Given the description of an element on the screen output the (x, y) to click on. 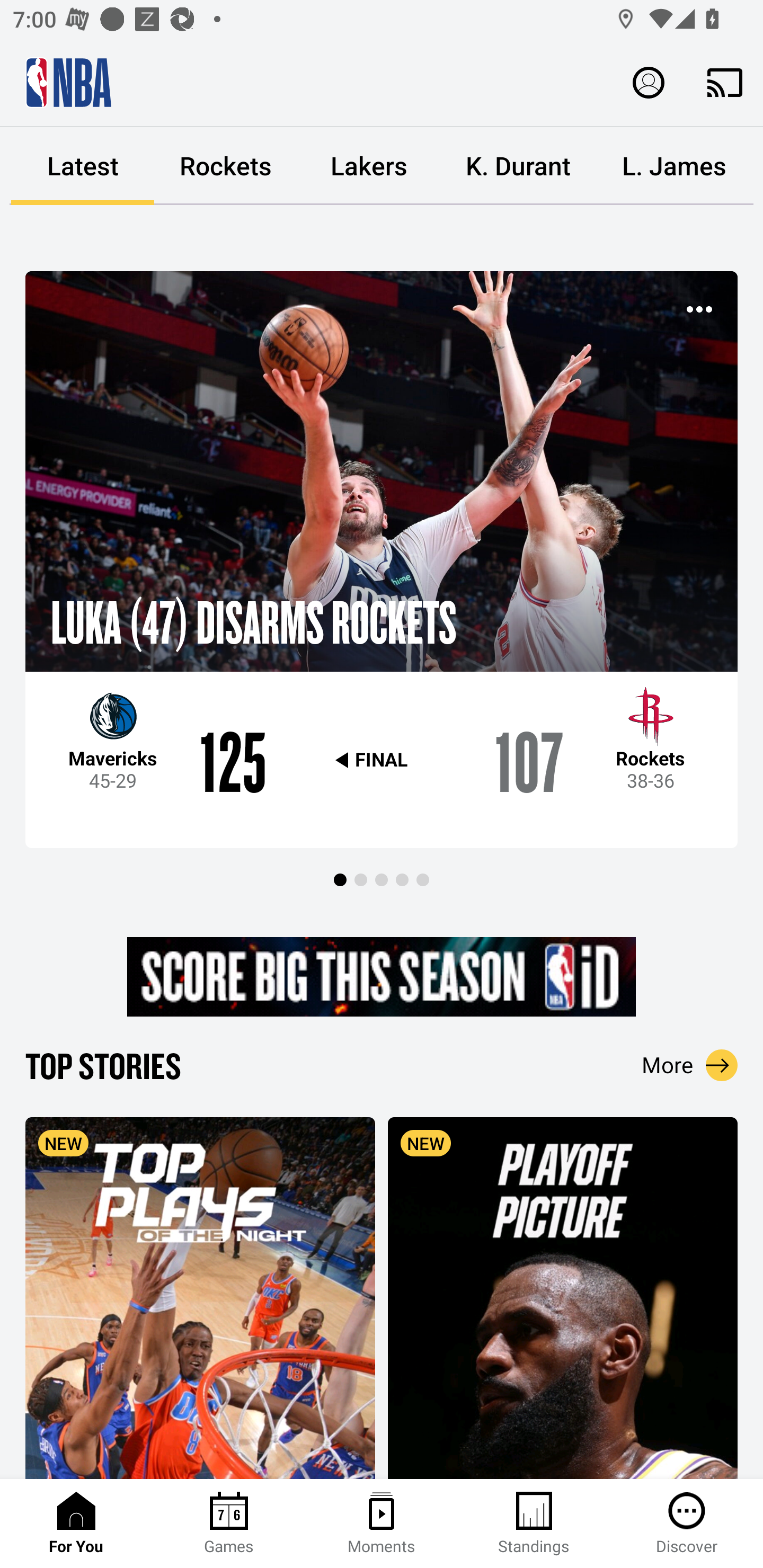
Cast. Disconnected (724, 82)
Profile (648, 81)
Rockets (225, 166)
Lakers (368, 166)
K. Durant (518, 166)
L. James (673, 166)
g5nqqygr7owph (381, 976)
TOP STORIES More NEW NEW (381, 1260)
More (689, 1064)
NEW (200, 1297)
NEW (562, 1297)
Games (228, 1523)
Moments (381, 1523)
Standings (533, 1523)
Discover (686, 1523)
